Given the description of an element on the screen output the (x, y) to click on. 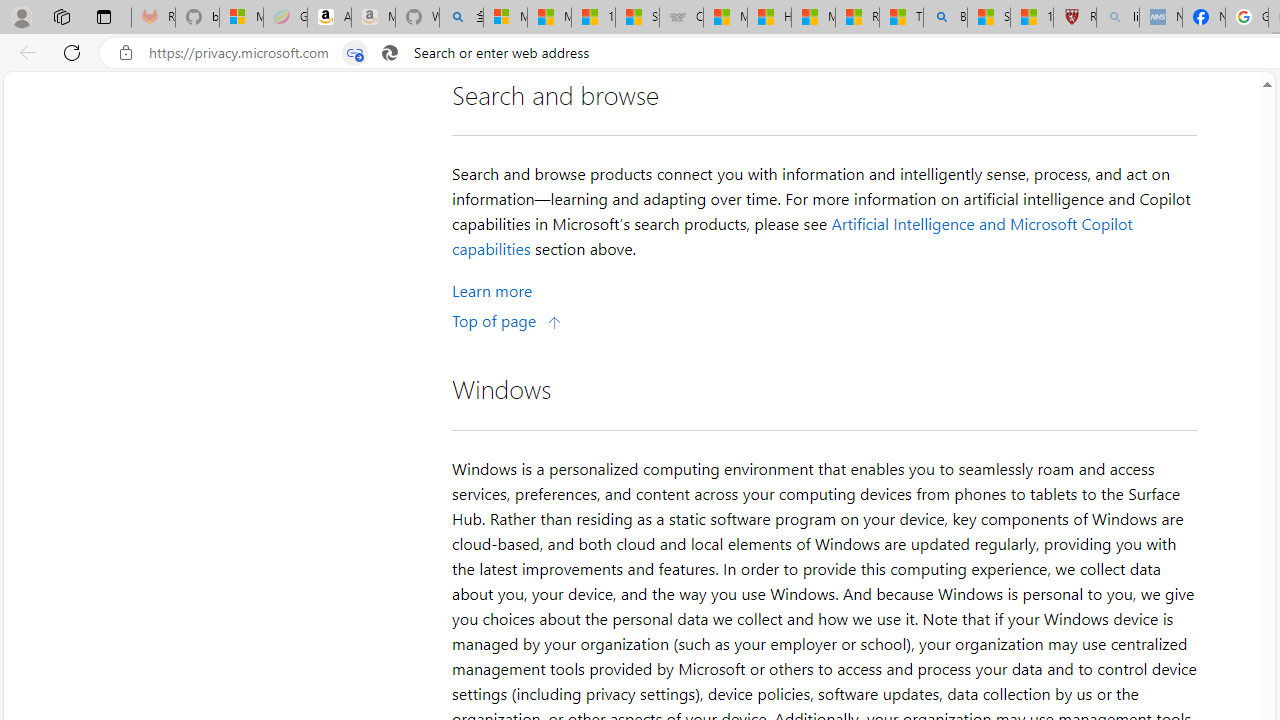
Bing (945, 17)
Science - MSN (988, 17)
12 Popular Science Lies that Must be Corrected (1032, 17)
Stocks - MSN (637, 17)
Top of page (507, 320)
Artificial Intelligence and Microsoft Copilot capabilities (791, 235)
How I Got Rid of Microsoft Edge's Unnecessary Features (769, 17)
